Given the description of an element on the screen output the (x, y) to click on. 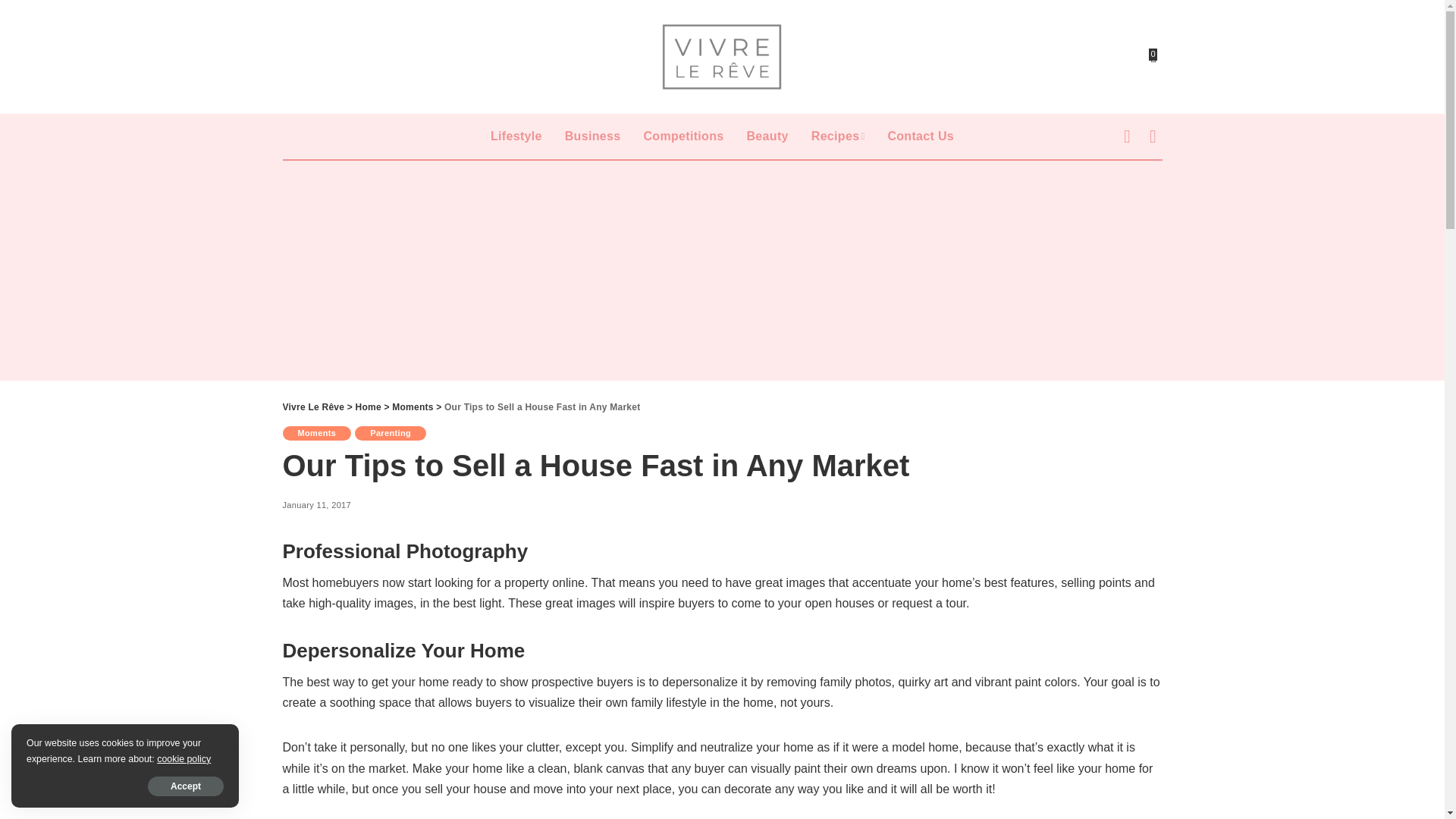
0 (1152, 56)
Go to the Moments Category archives. (411, 407)
Go to Home. (368, 407)
Lifestyle (516, 135)
